Given the description of an element on the screen output the (x, y) to click on. 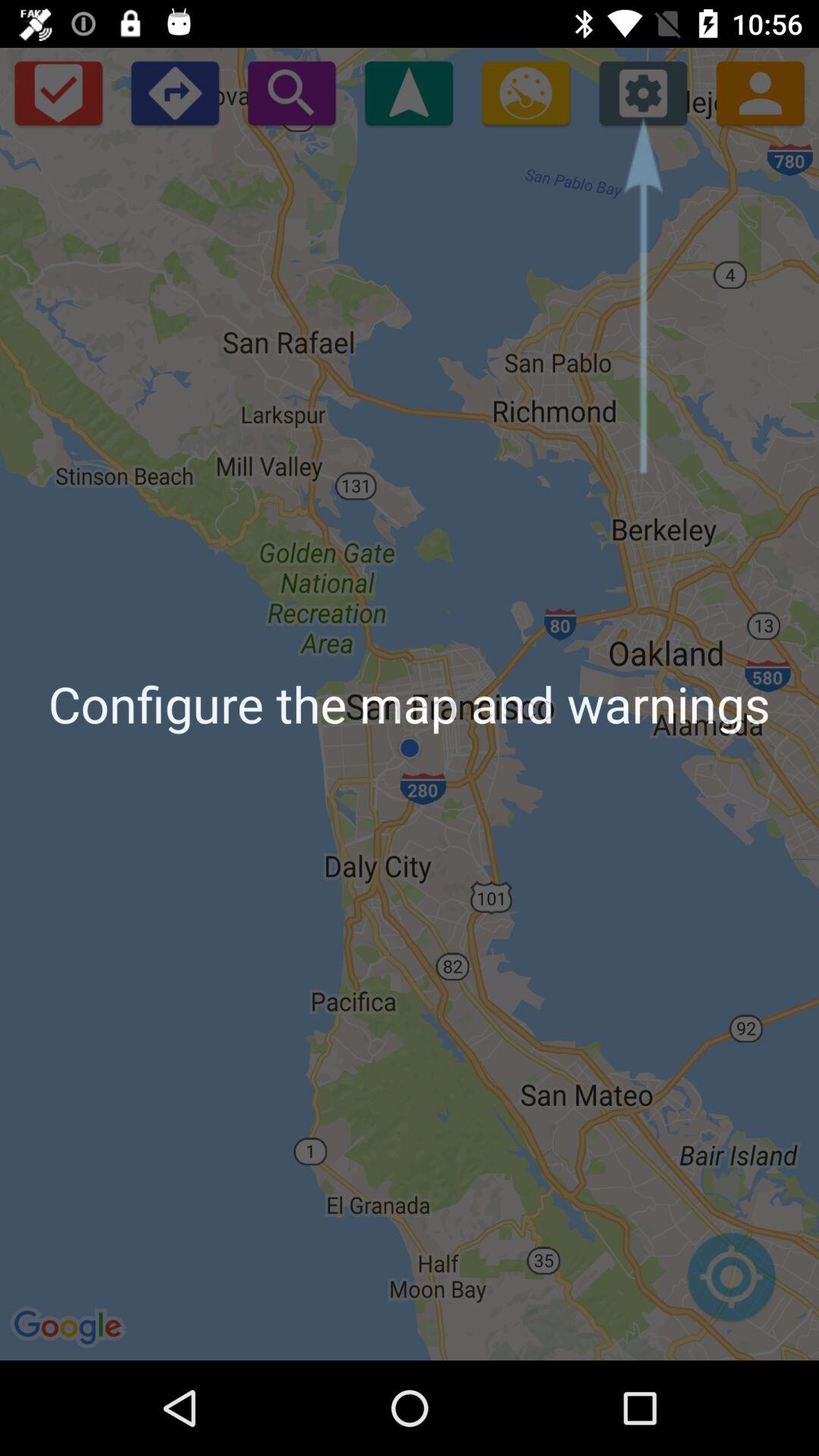
jump to current location on the map (731, 1284)
